Given the description of an element on the screen output the (x, y) to click on. 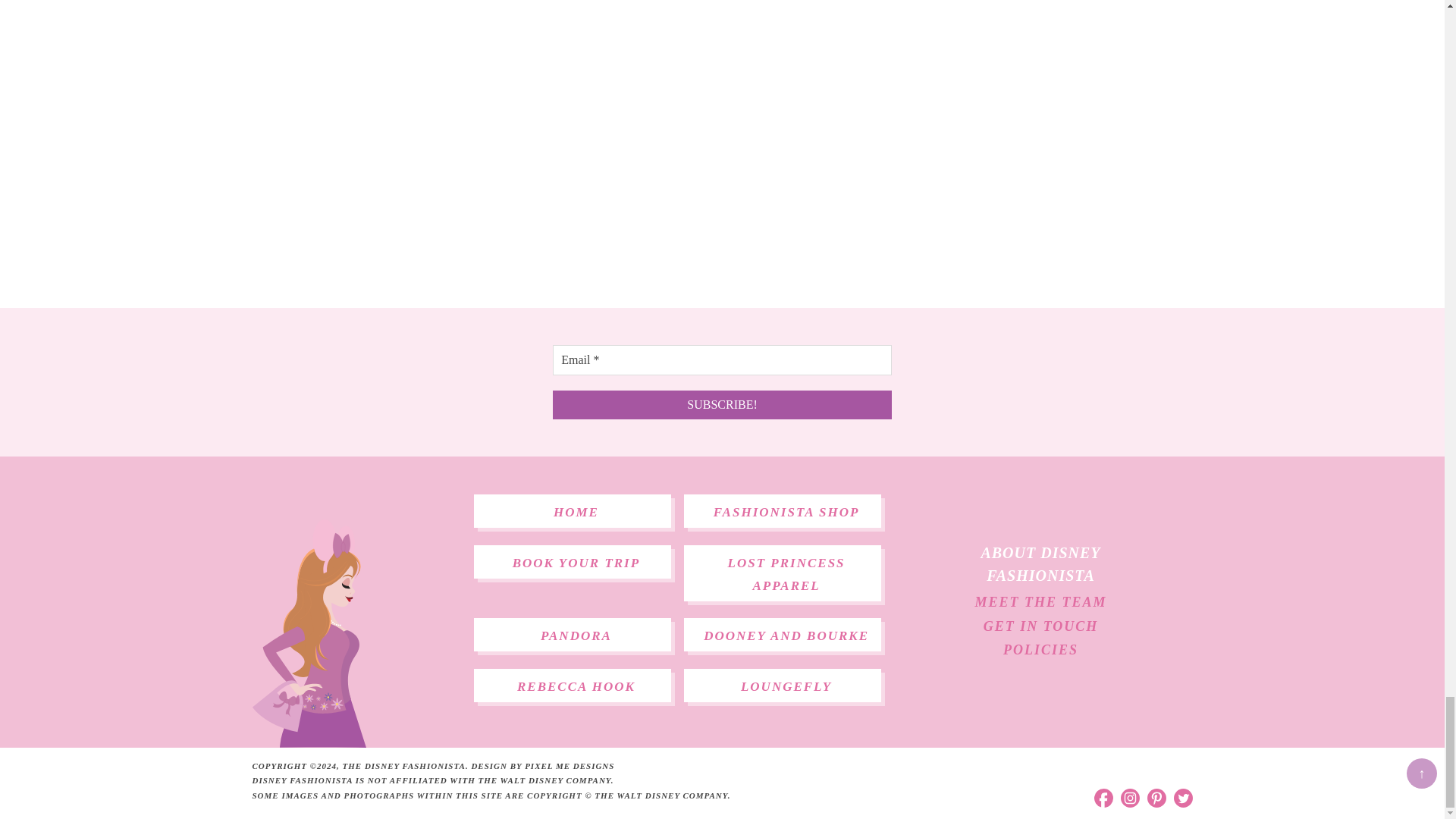
Subscribe! (722, 404)
